Given the description of an element on the screen output the (x, y) to click on. 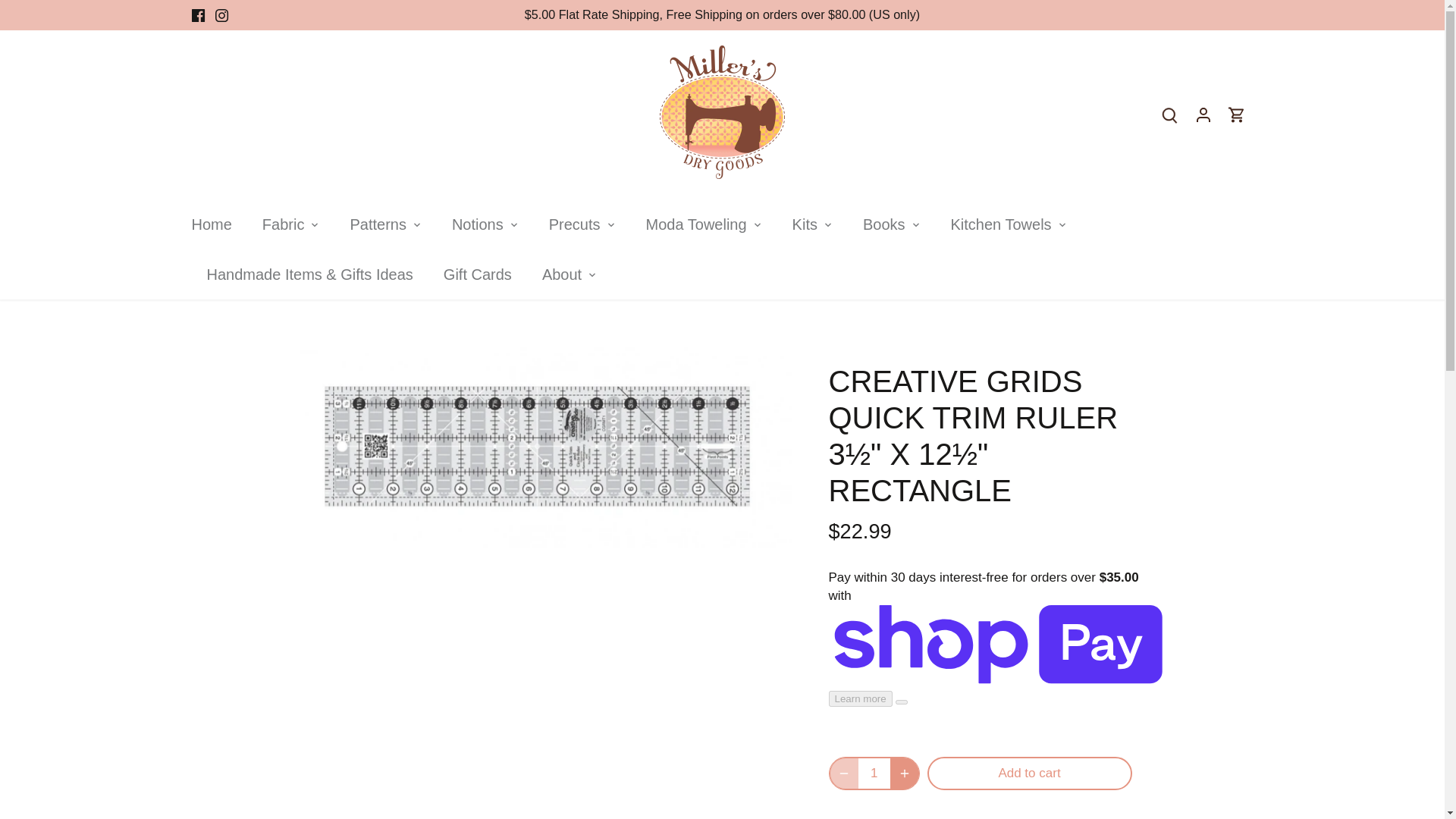
Home (218, 224)
Facebook (196, 15)
1 (875, 773)
Fabric (283, 224)
Instagram (221, 15)
